Given the description of an element on the screen output the (x, y) to click on. 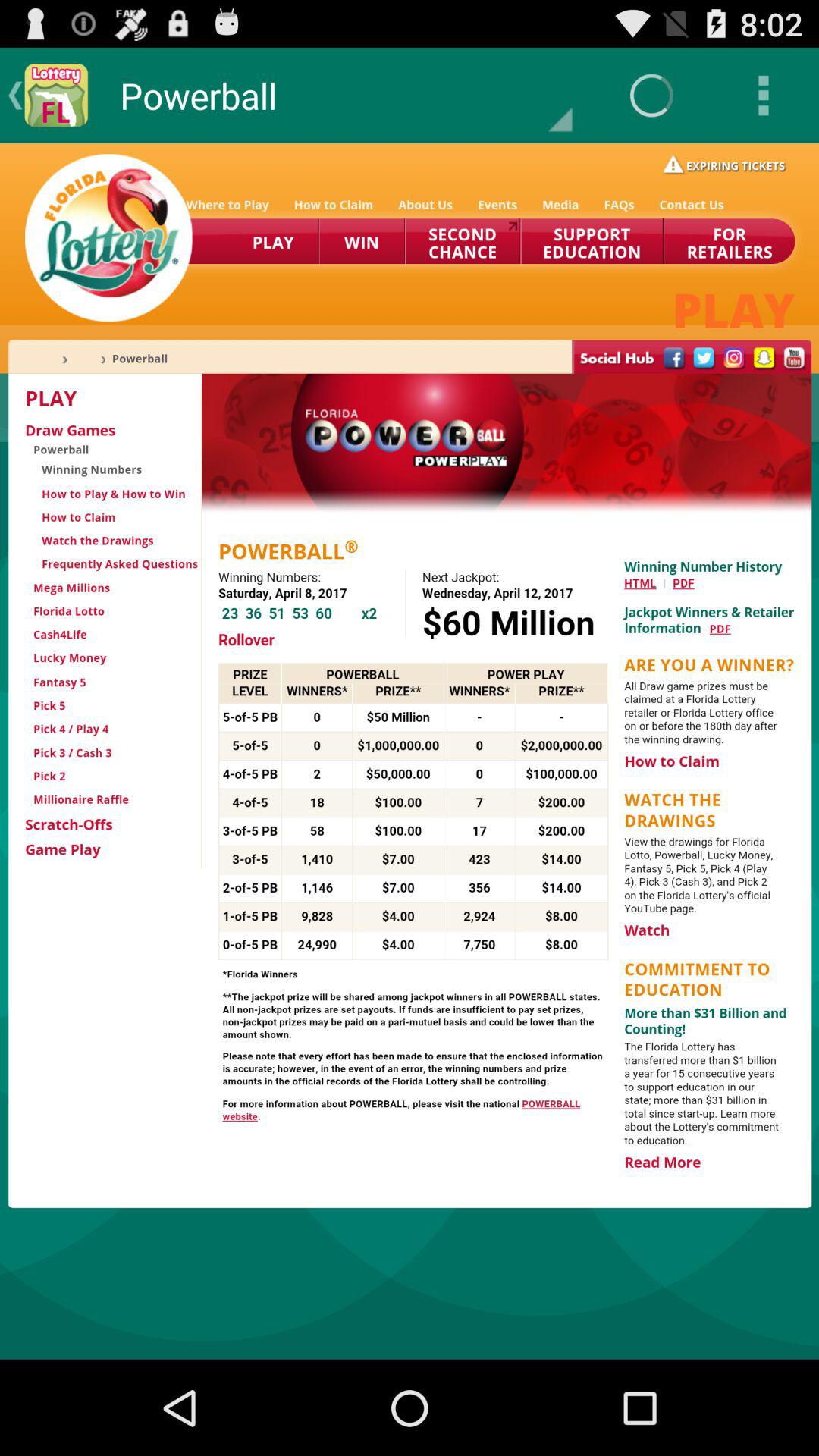
home page (409, 751)
